Given the description of an element on the screen output the (x, y) to click on. 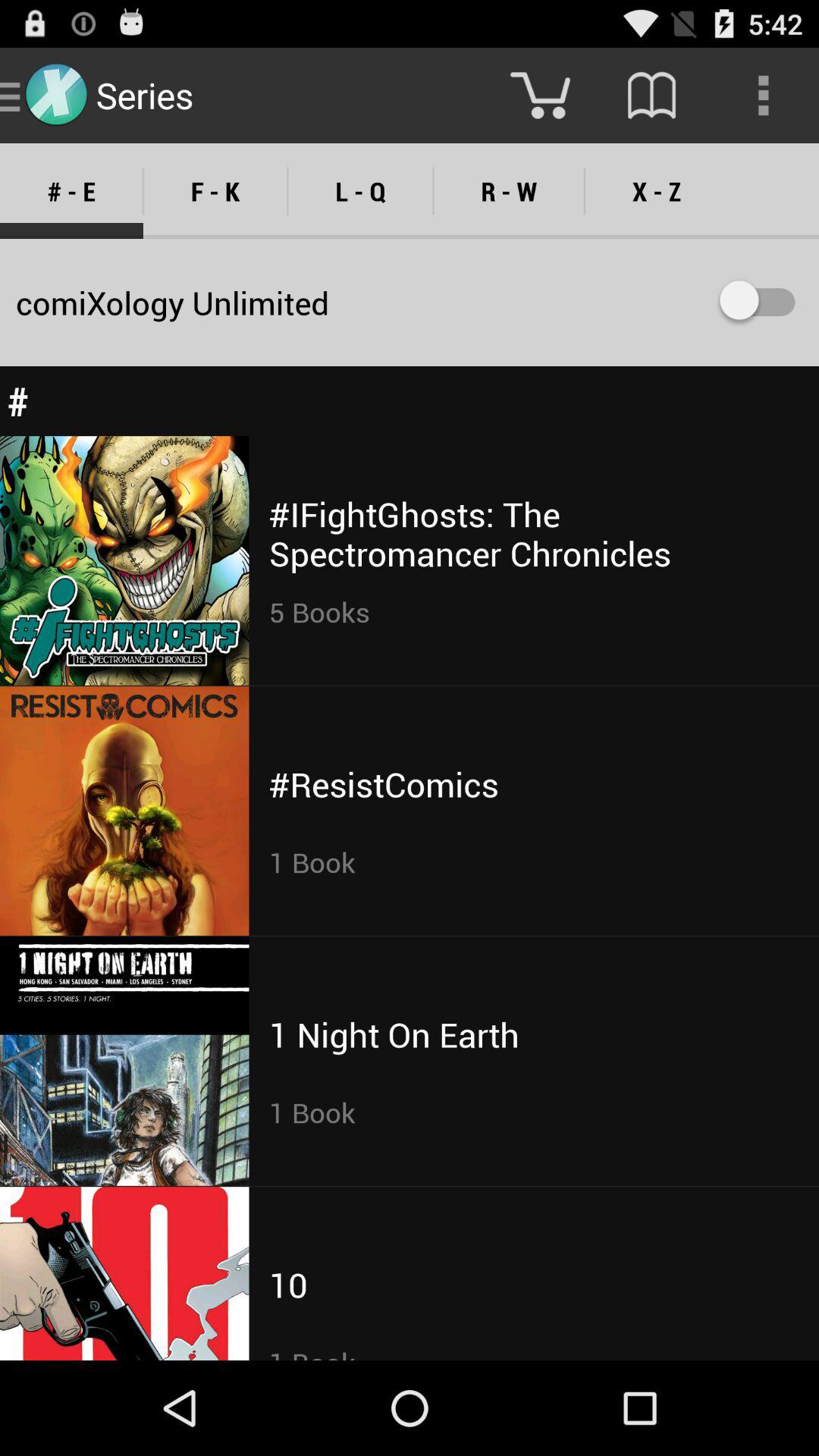
swipe to the #resistcomics item (383, 784)
